Given the description of an element on the screen output the (x, y) to click on. 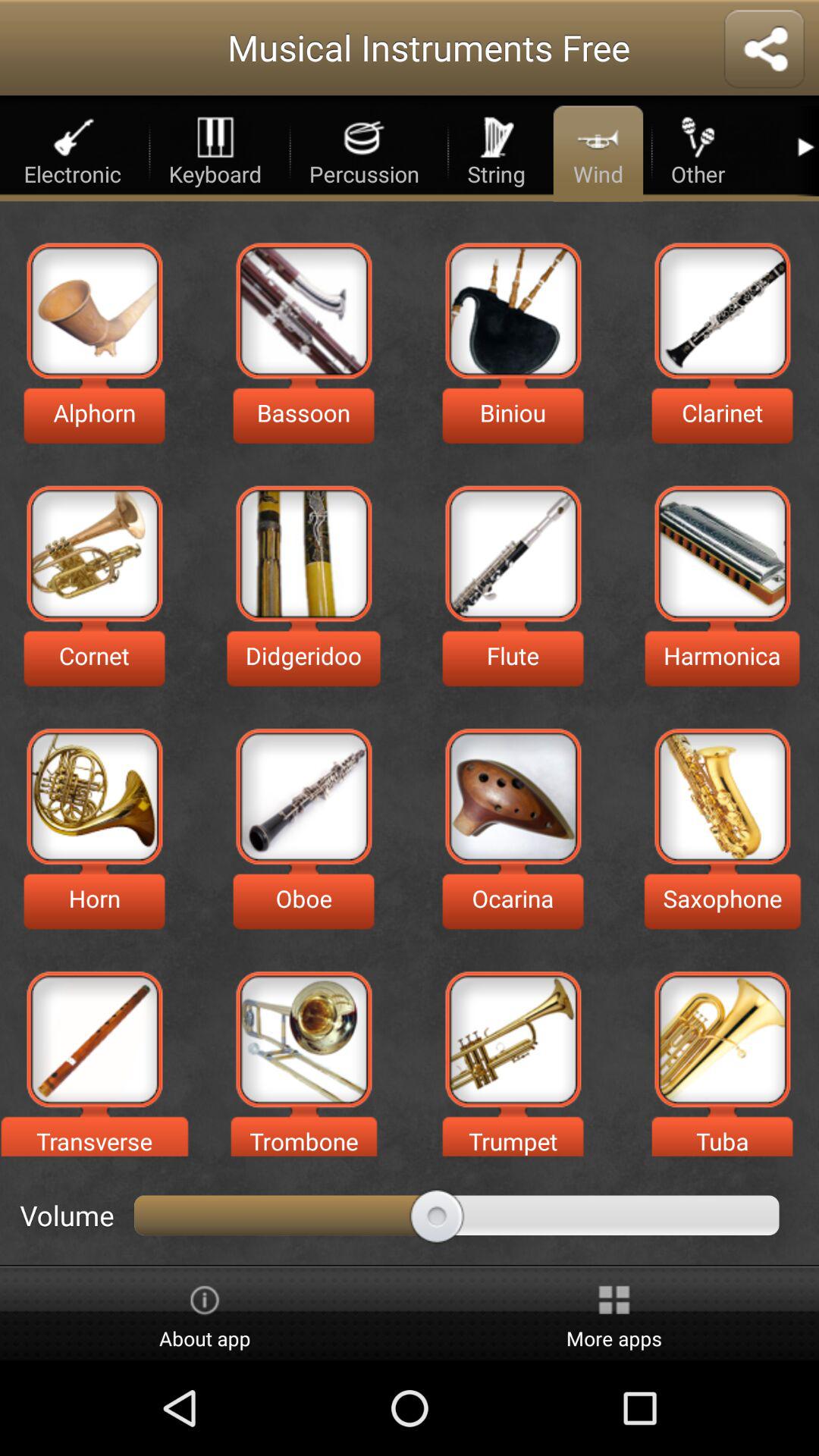
view the subject (722, 1039)
